Given the description of an element on the screen output the (x, y) to click on. 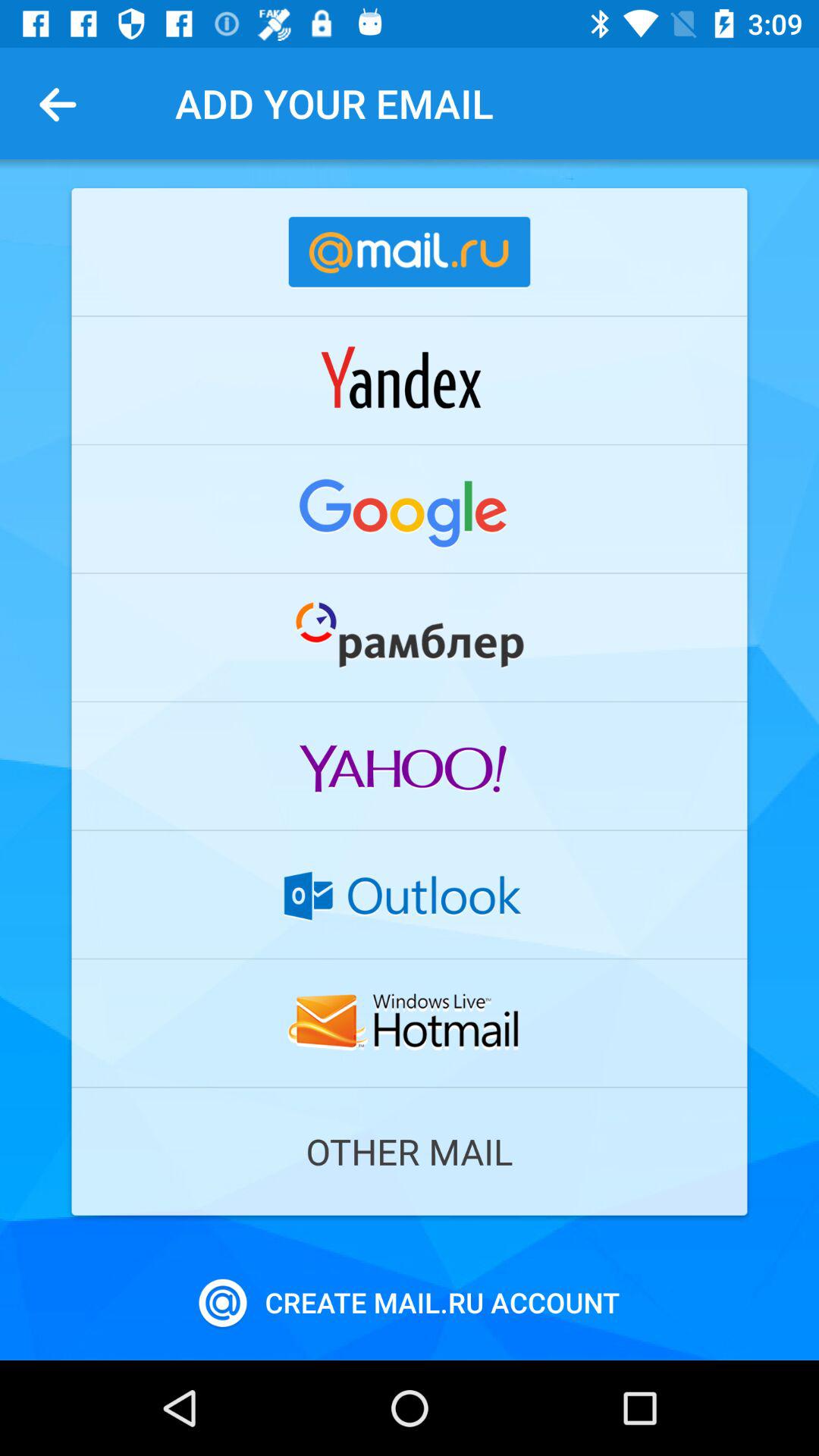
add google email (409, 508)
